Given the description of an element on the screen output the (x, y) to click on. 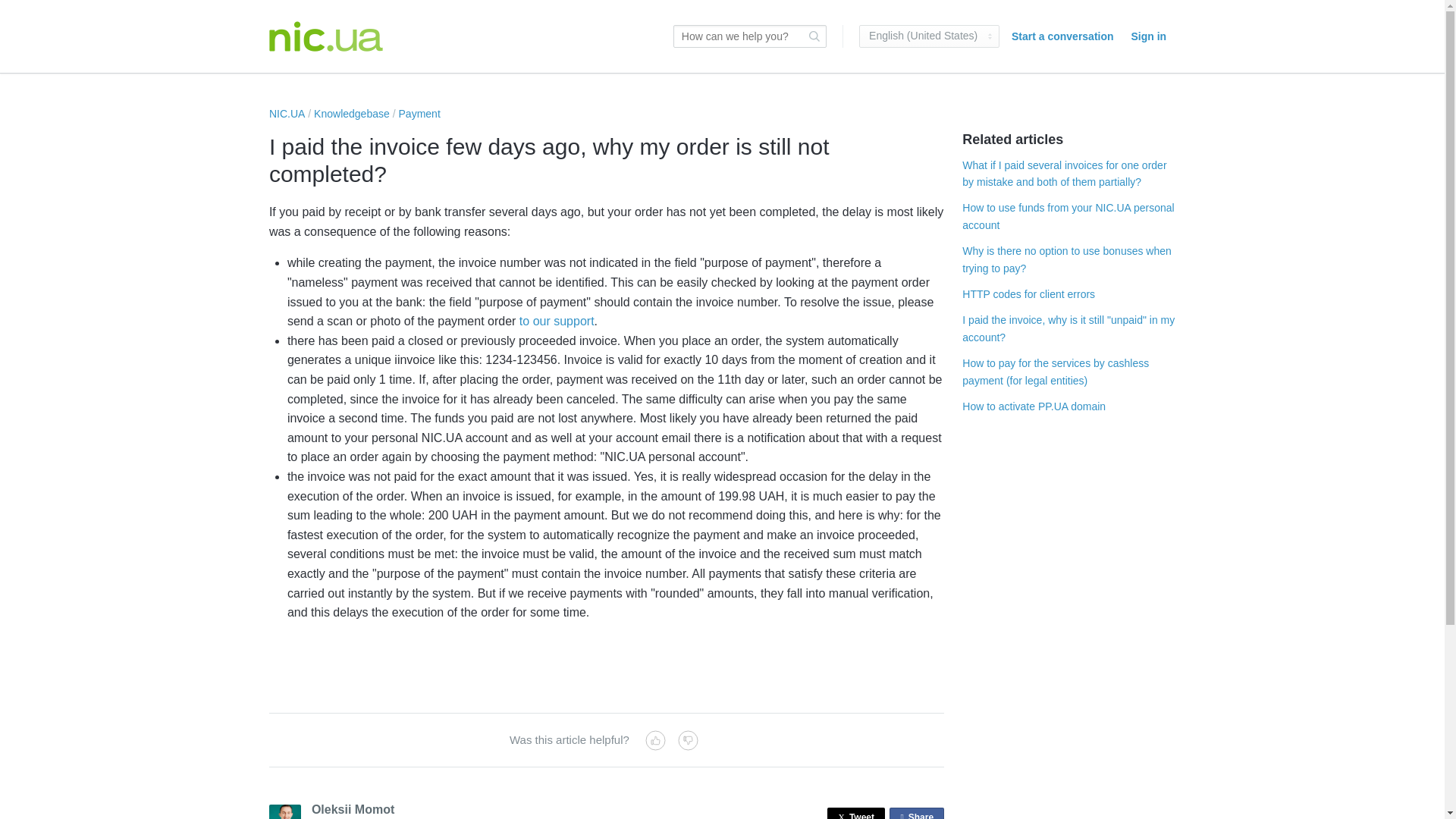
NIC.UA (286, 113)
Knowledgebase (352, 113)
How to use funds from your NIC.UA personal account (1067, 215)
Payment (916, 813)
Go to homepage (419, 113)
How to activate PP.UA domain (325, 36)
to our support (1033, 406)
HTTP codes for client errors (556, 320)
I paid the invoice, why is it still "unpaid" in my account? (1028, 294)
